Given the description of an element on the screen output the (x, y) to click on. 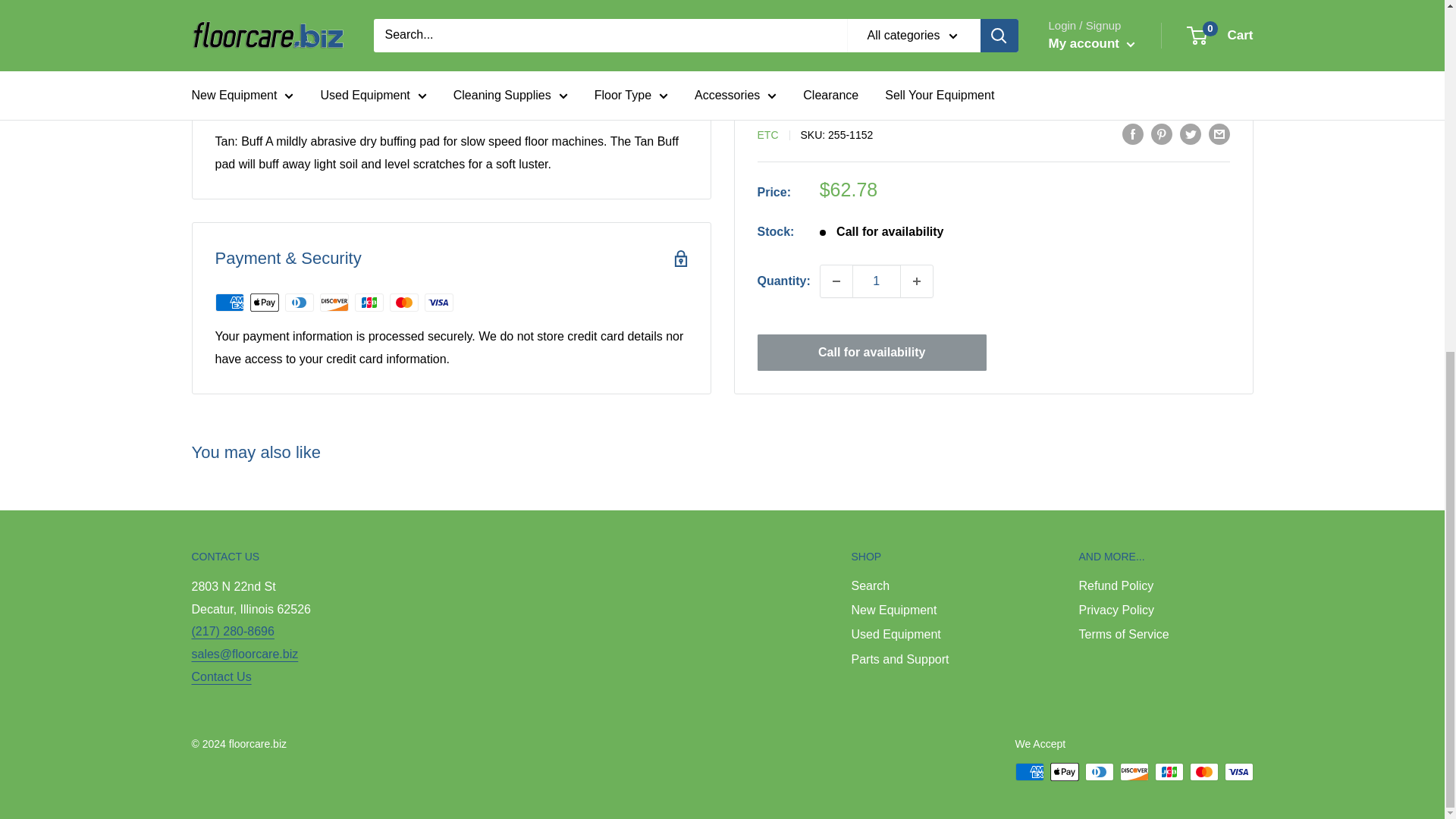
Contact Us (220, 676)
tel:12172808696 (231, 631)
